Given the description of an element on the screen output the (x, y) to click on. 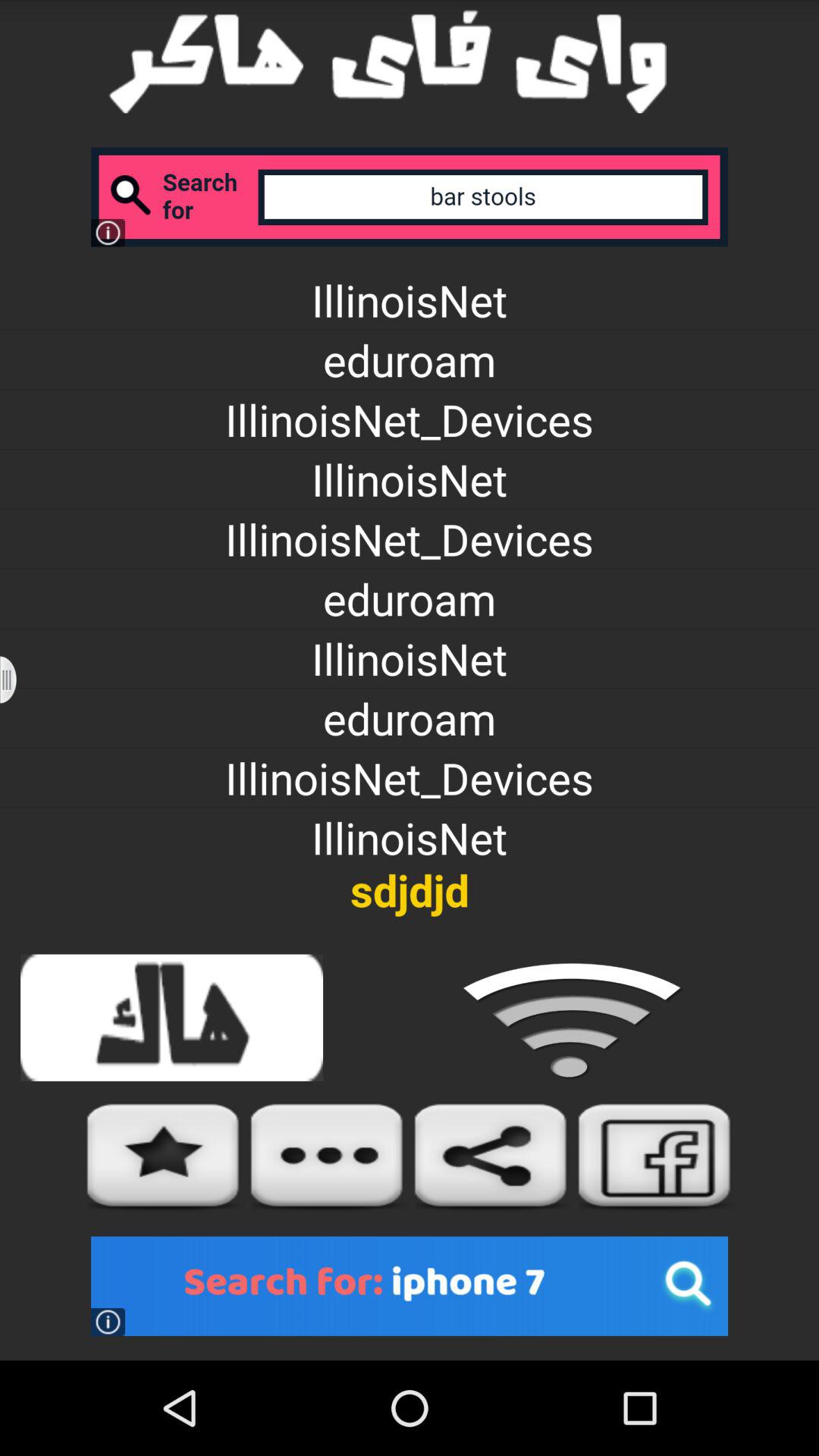
search (409, 196)
